Given the description of an element on the screen output the (x, y) to click on. 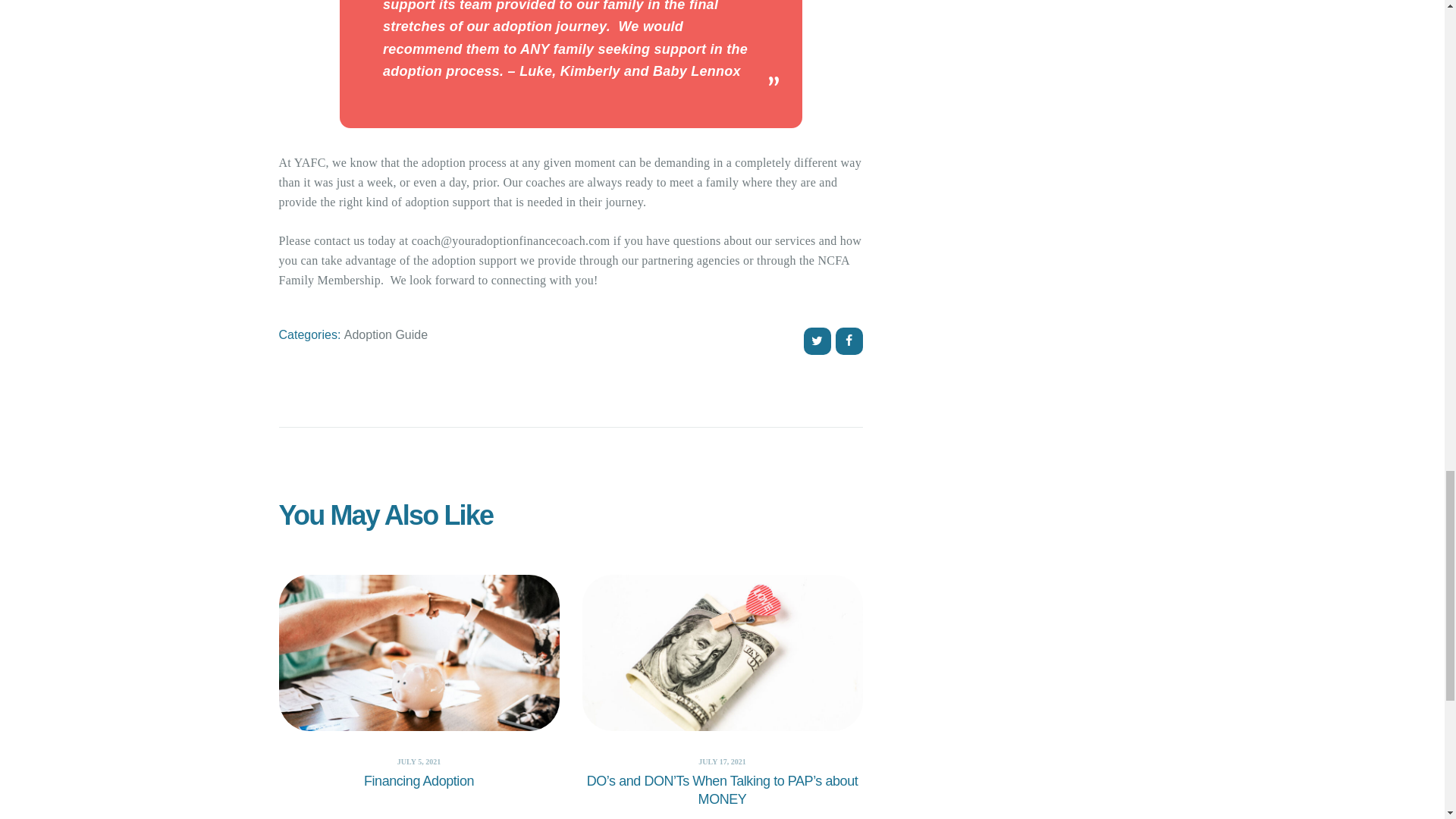
Adoption Guide (385, 334)
Financing Adoption (419, 782)
JULY 5, 2021 (419, 761)
Financing Adoption 2 (419, 652)
